Given the description of an element on the screen output the (x, y) to click on. 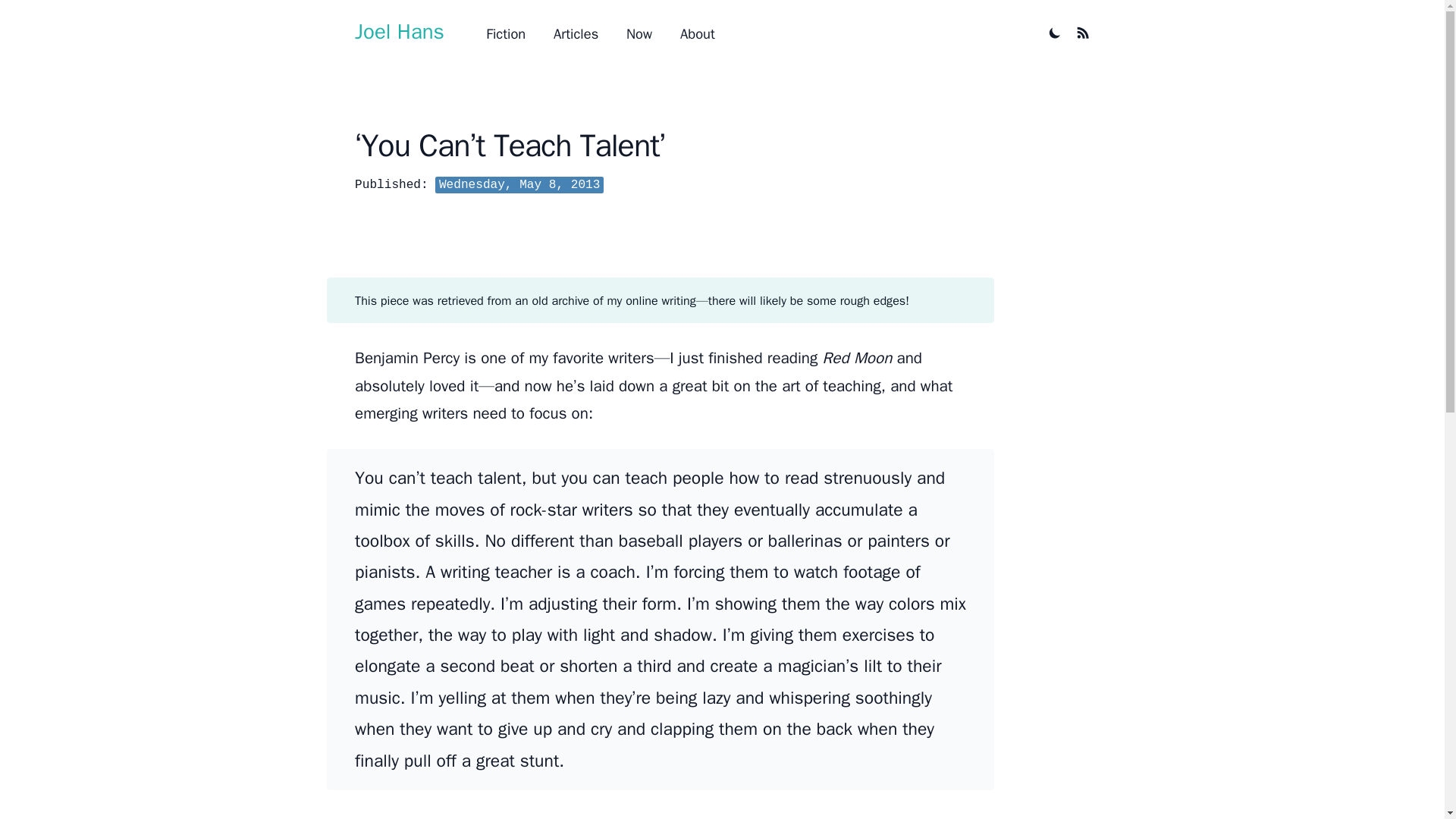
Fiction (505, 33)
About (696, 33)
Now (639, 33)
Joel Hans (399, 31)
Articles (575, 33)
